Given the description of an element on the screen output the (x, y) to click on. 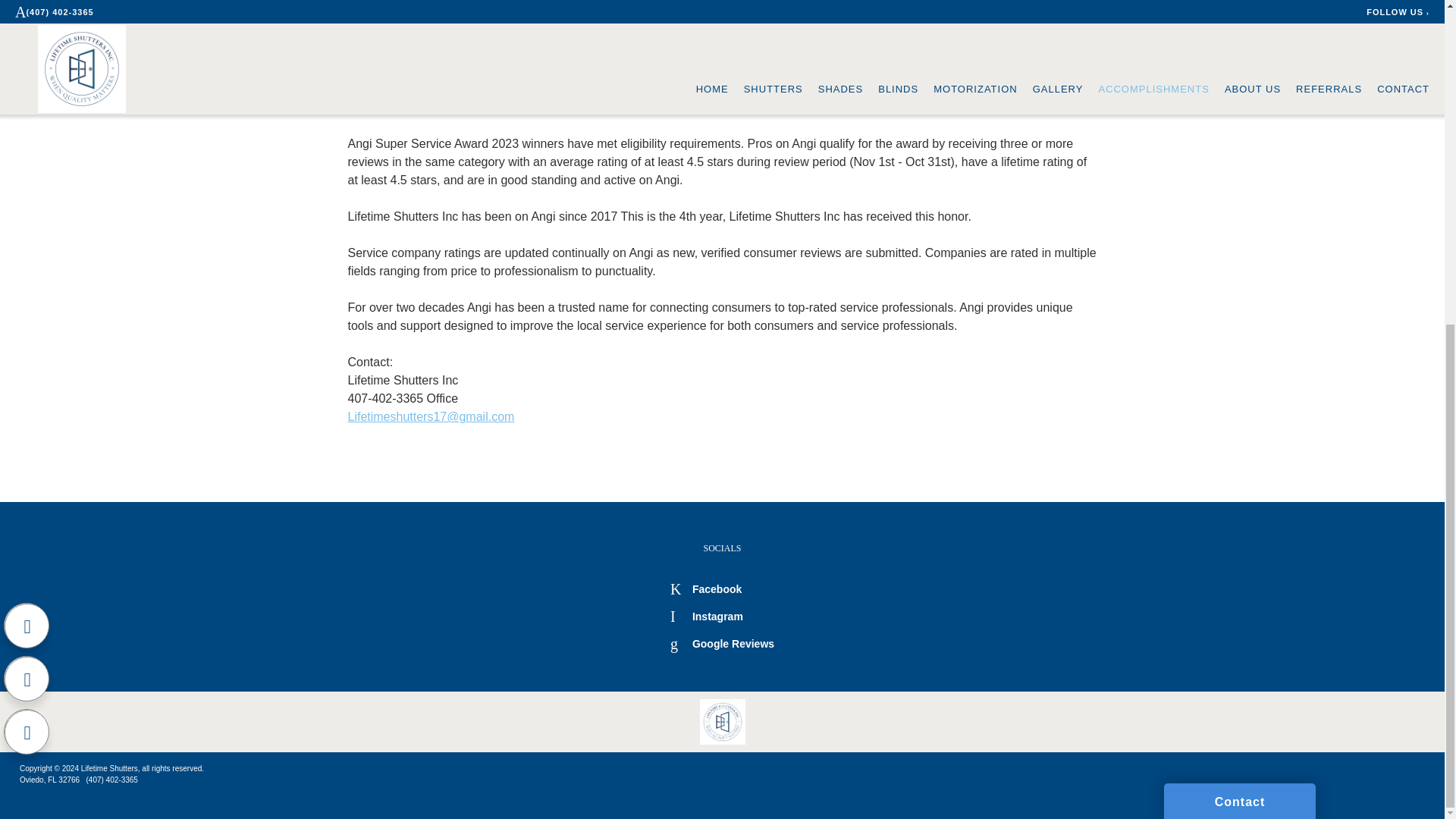
Lifetime Shutters (722, 721)
Google Reviews (721, 643)
Facebook (705, 588)
Instagram (705, 615)
